Given the description of an element on the screen output the (x, y) to click on. 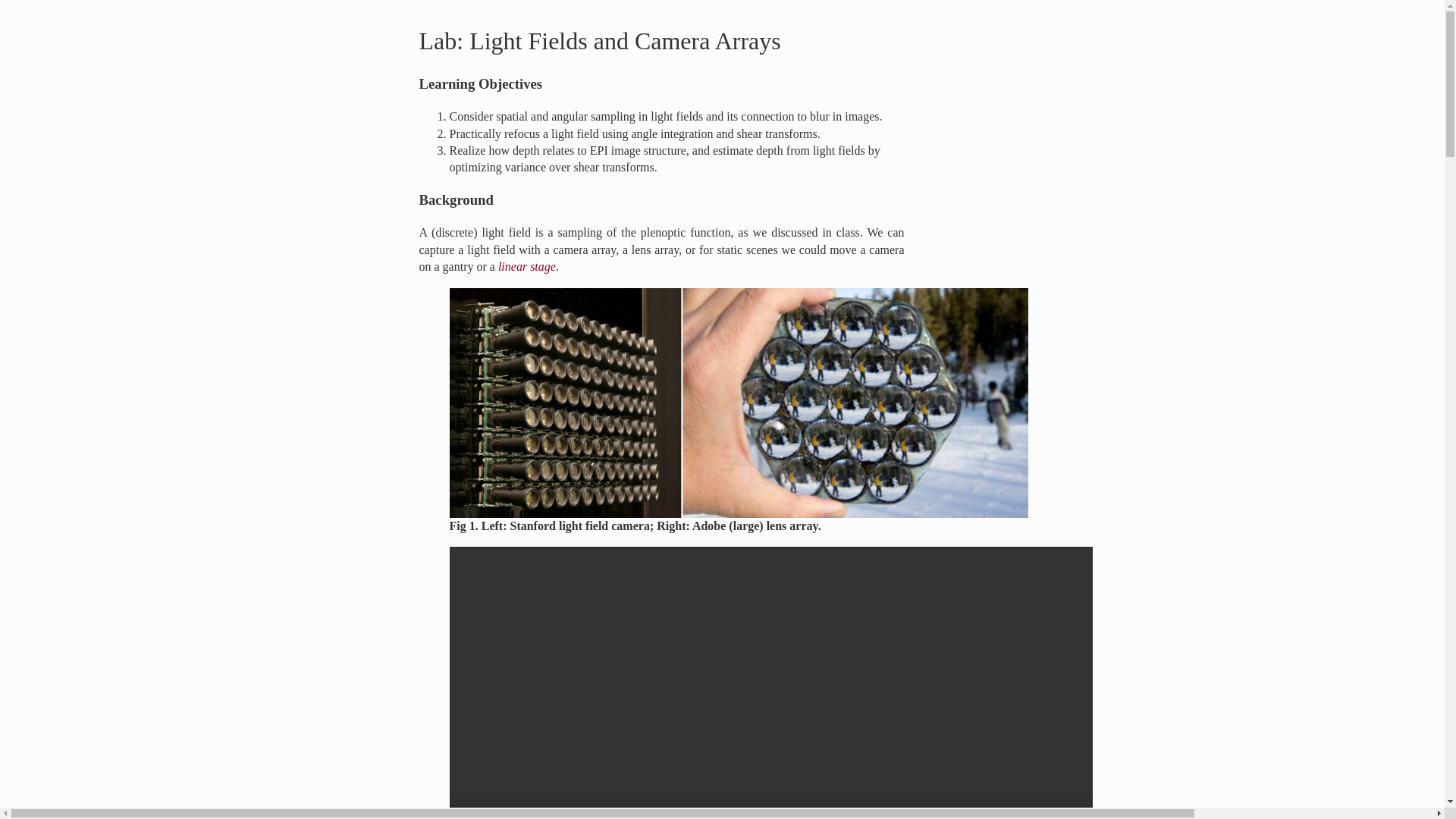
linear stage (526, 266)
